Given the description of an element on the screen output the (x, y) to click on. 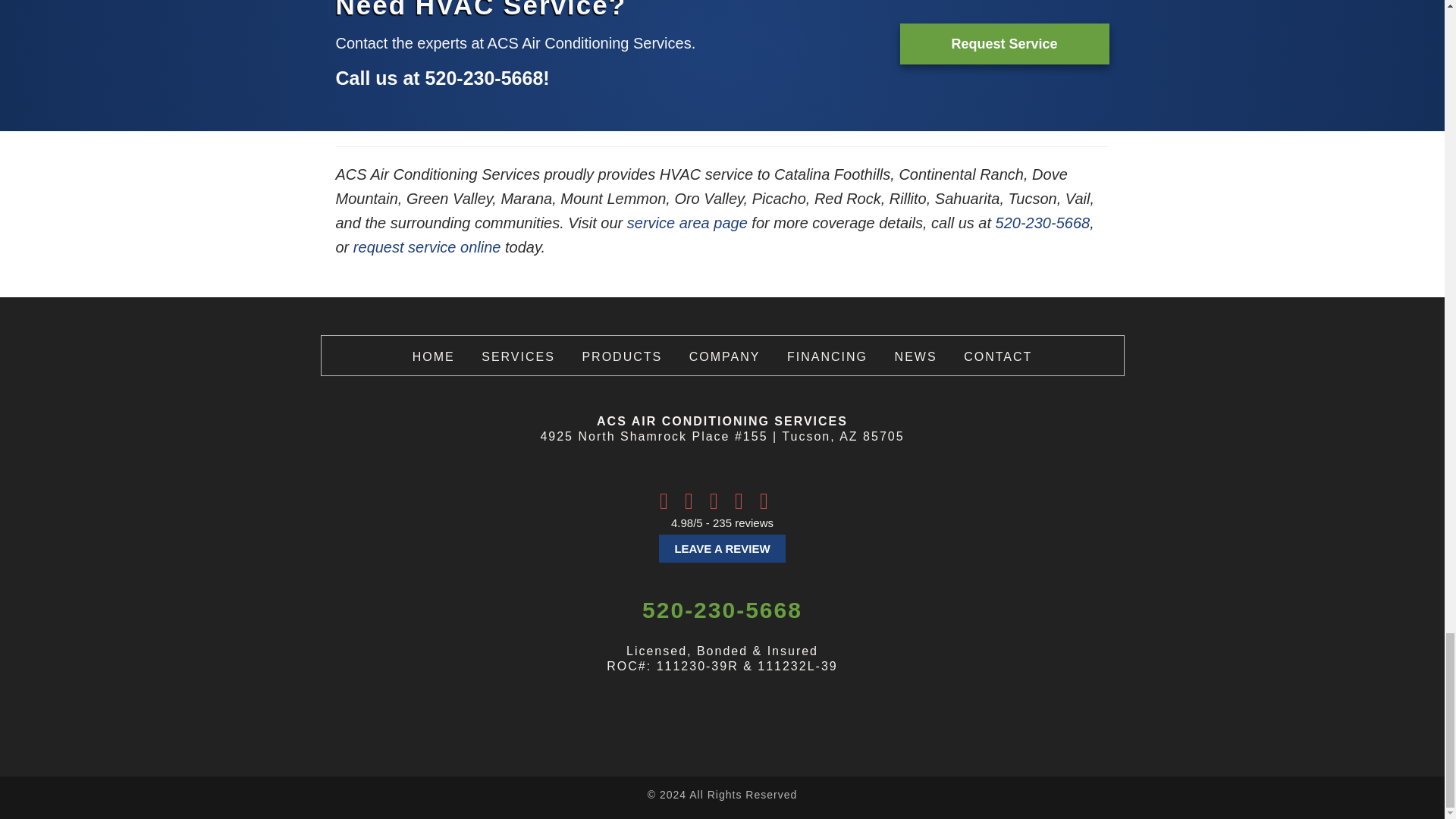
SERVICES (517, 356)
service area page (687, 222)
520-230-5668 (1042, 222)
Request Service (1003, 43)
520-230-5668 (484, 77)
FINANCING (827, 356)
PRODUCTS (621, 356)
COMPANY (724, 356)
HOME (433, 356)
request service online (426, 247)
